Given the description of an element on the screen output the (x, y) to click on. 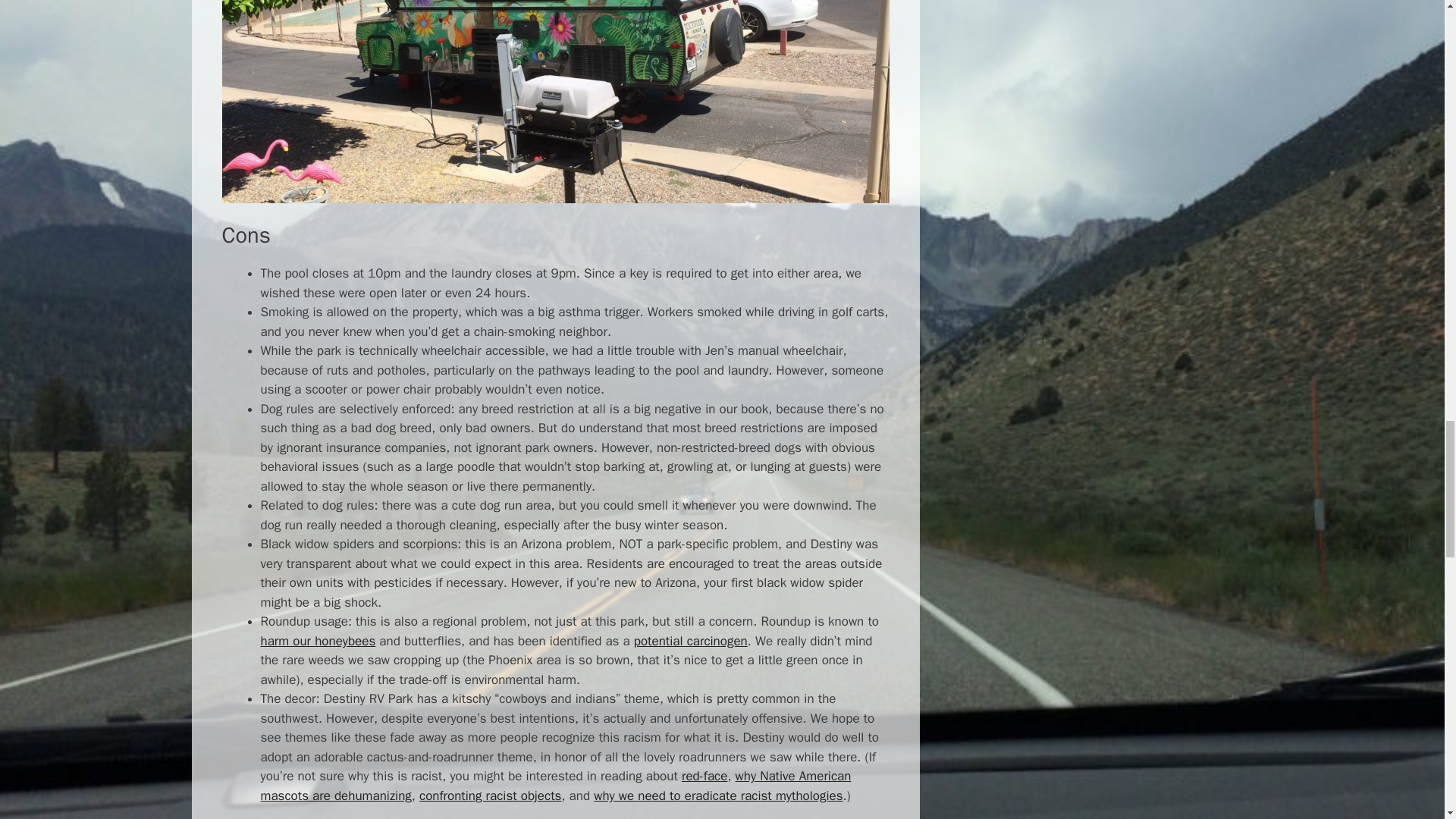
why we need to eradicate racist mythologies (718, 795)
why Native American mascots are dehumanizing (555, 785)
harm our honeybees (317, 641)
red-face (703, 775)
potential carcinogen (690, 641)
confronting racist objects (489, 795)
